Given the description of an element on the screen output the (x, y) to click on. 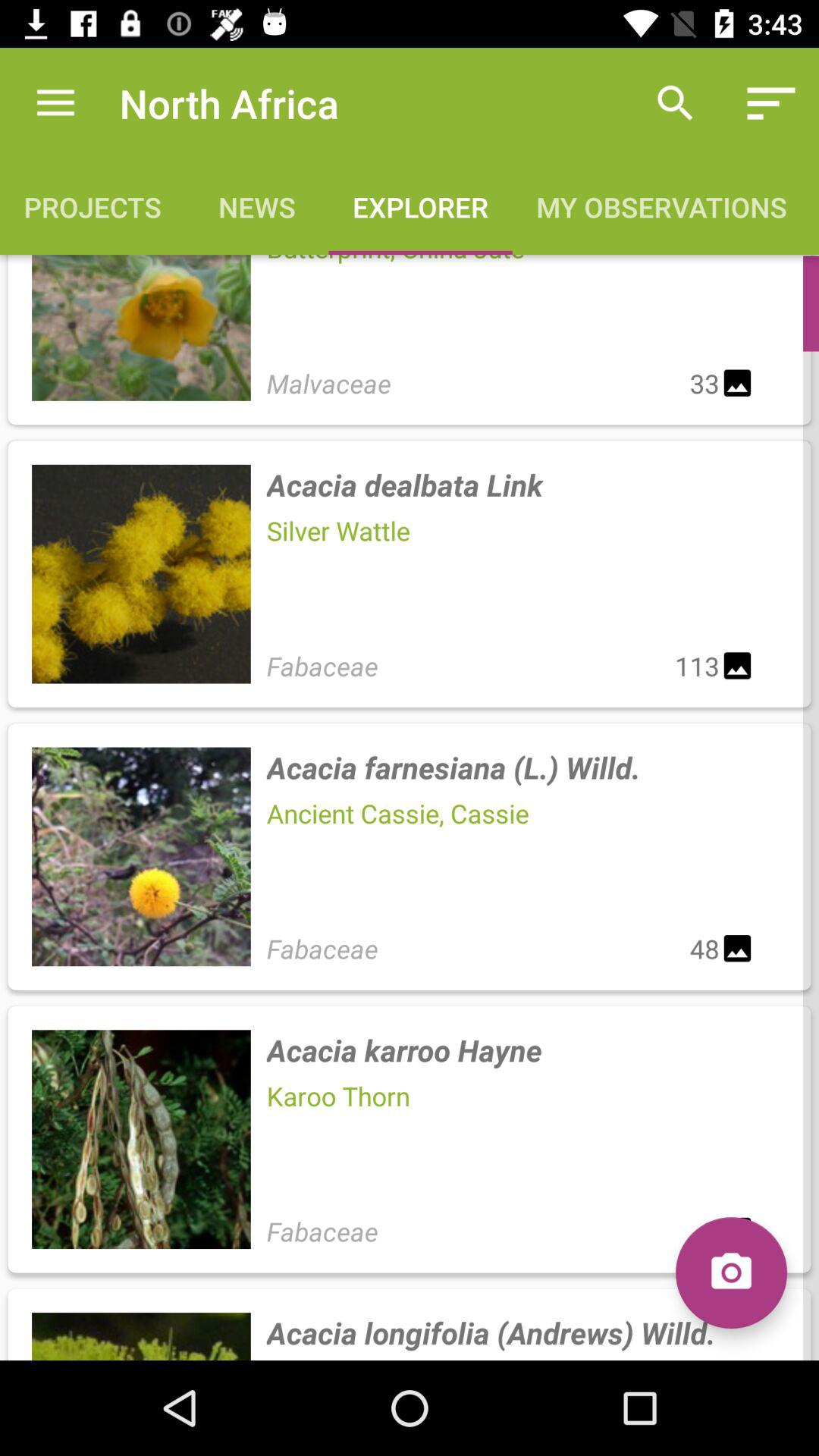
open the icon above my observations icon (771, 103)
